Given the description of an element on the screen output the (x, y) to click on. 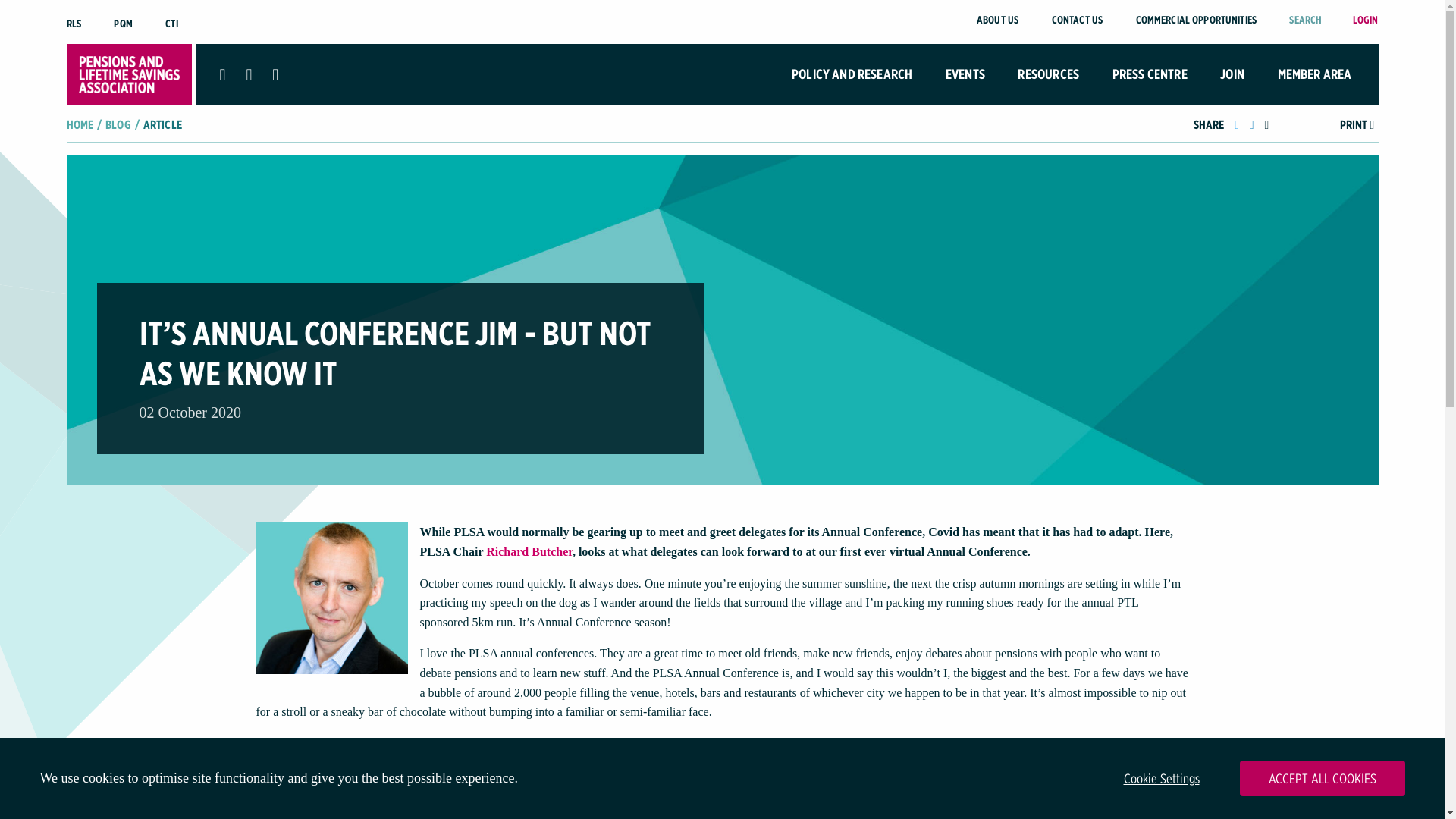
ACCEPT ALL COOKIES (1322, 778)
RLS (73, 23)
COMMERCIAL OPPORTUNITIES (1195, 19)
PQM (122, 23)
ABOUT US (996, 19)
CONTACT US (1076, 19)
Cookie Settings (1161, 778)
LOGIN (1365, 19)
CTI (171, 23)
SEARCH (1305, 19)
